Given the description of an element on the screen output the (x, y) to click on. 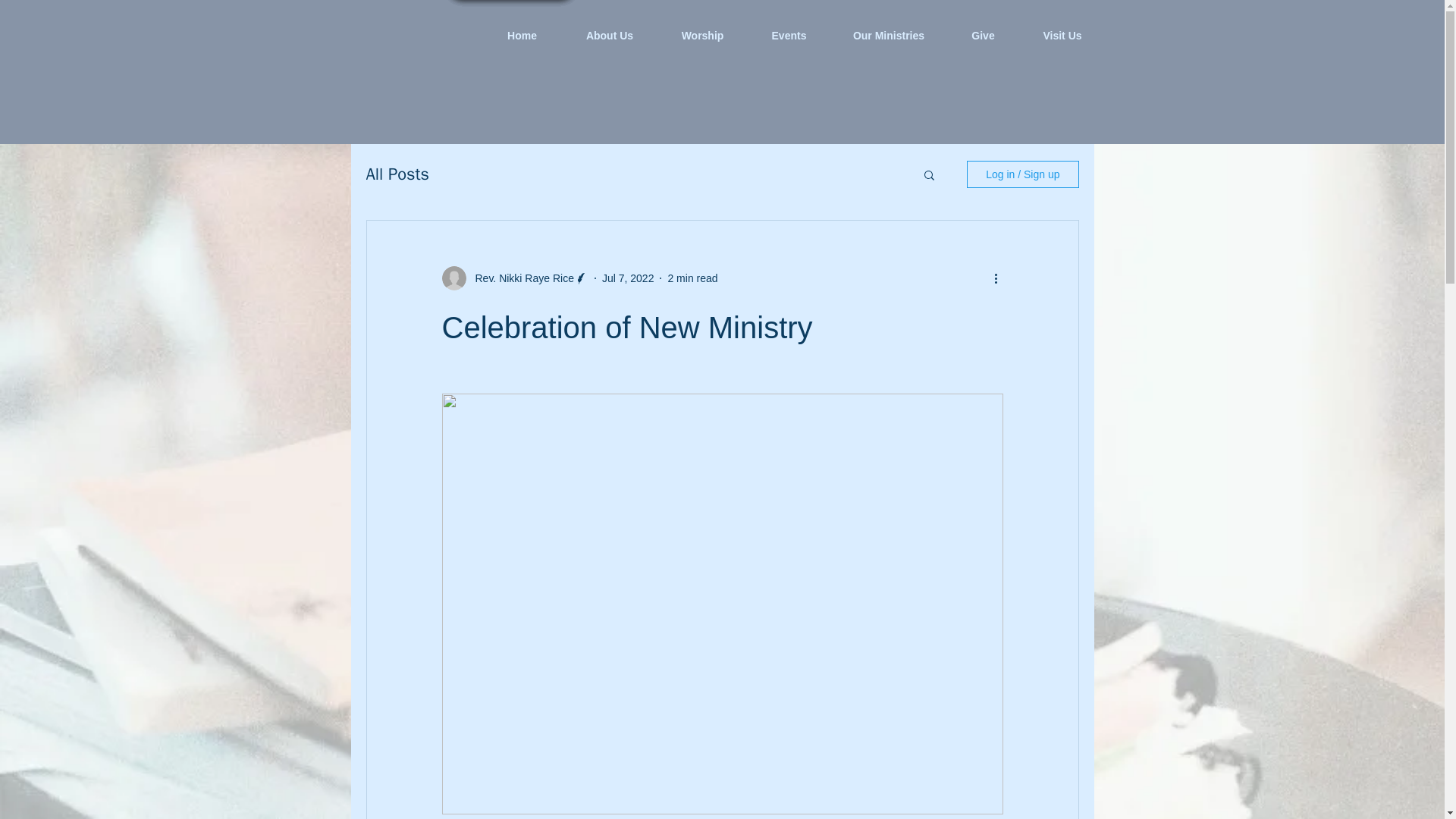
Jul 7, 2022 (627, 277)
2 min read (691, 277)
All Posts (397, 173)
Home (520, 35)
Give (983, 35)
Rev. Nikki Raye Rice (519, 277)
Worship (703, 35)
Visit Us (1062, 35)
About Us (610, 35)
Our Ministries (889, 35)
Events (788, 35)
